Given the description of an element on the screen output the (x, y) to click on. 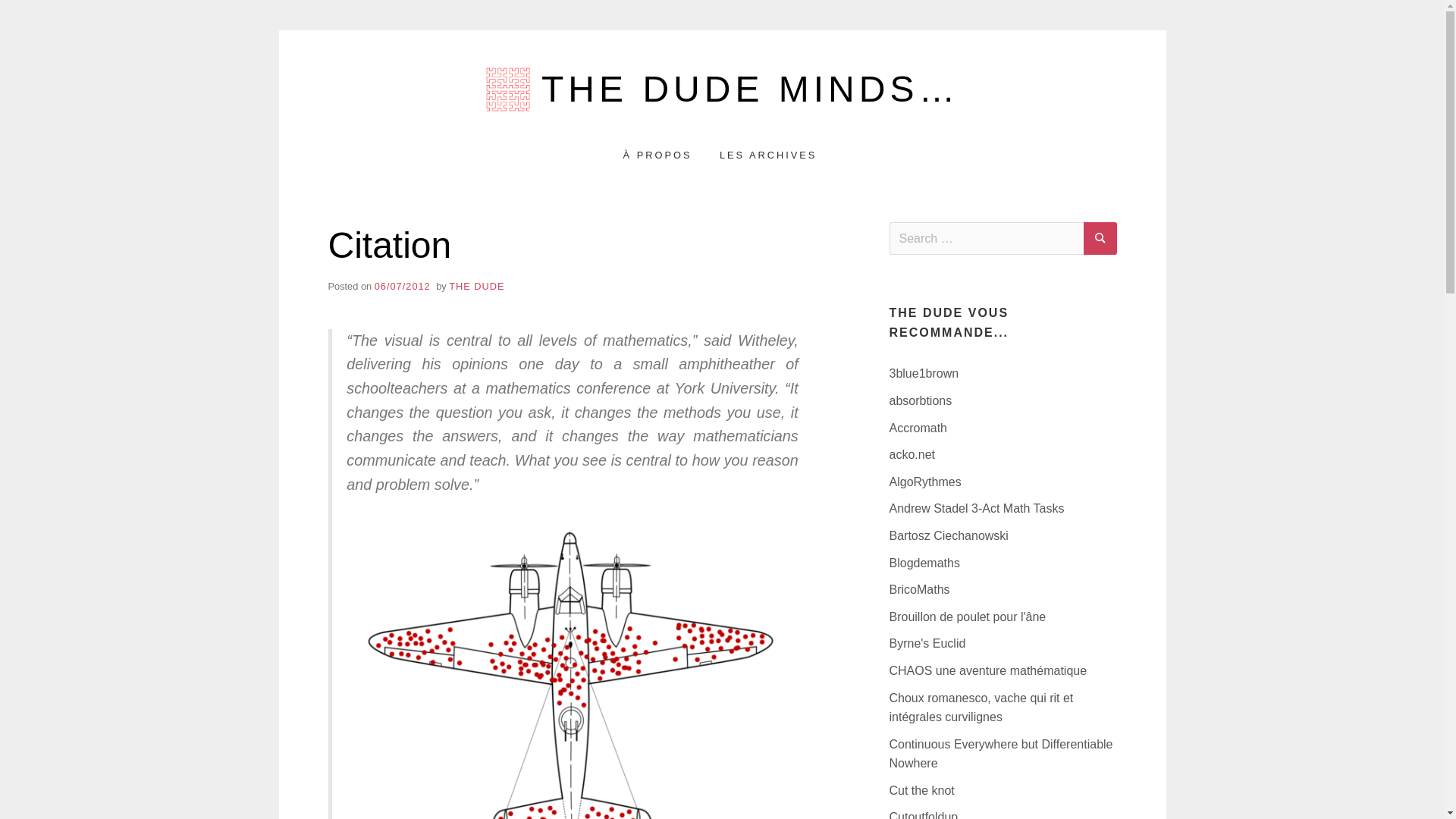
Animated math (923, 373)
Bog de maths (924, 481)
Continuous Everywhere but Differentiable Nowhere (1000, 753)
LES ARCHIVES (767, 154)
3blue1brown (923, 373)
Interactive Mathematics Miscellany  and Puzzles (920, 789)
Blogdemaths (923, 562)
Andrew Stadel 3-Act Math Tasks (976, 508)
Search (1099, 237)
